Given the description of an element on the screen output the (x, y) to click on. 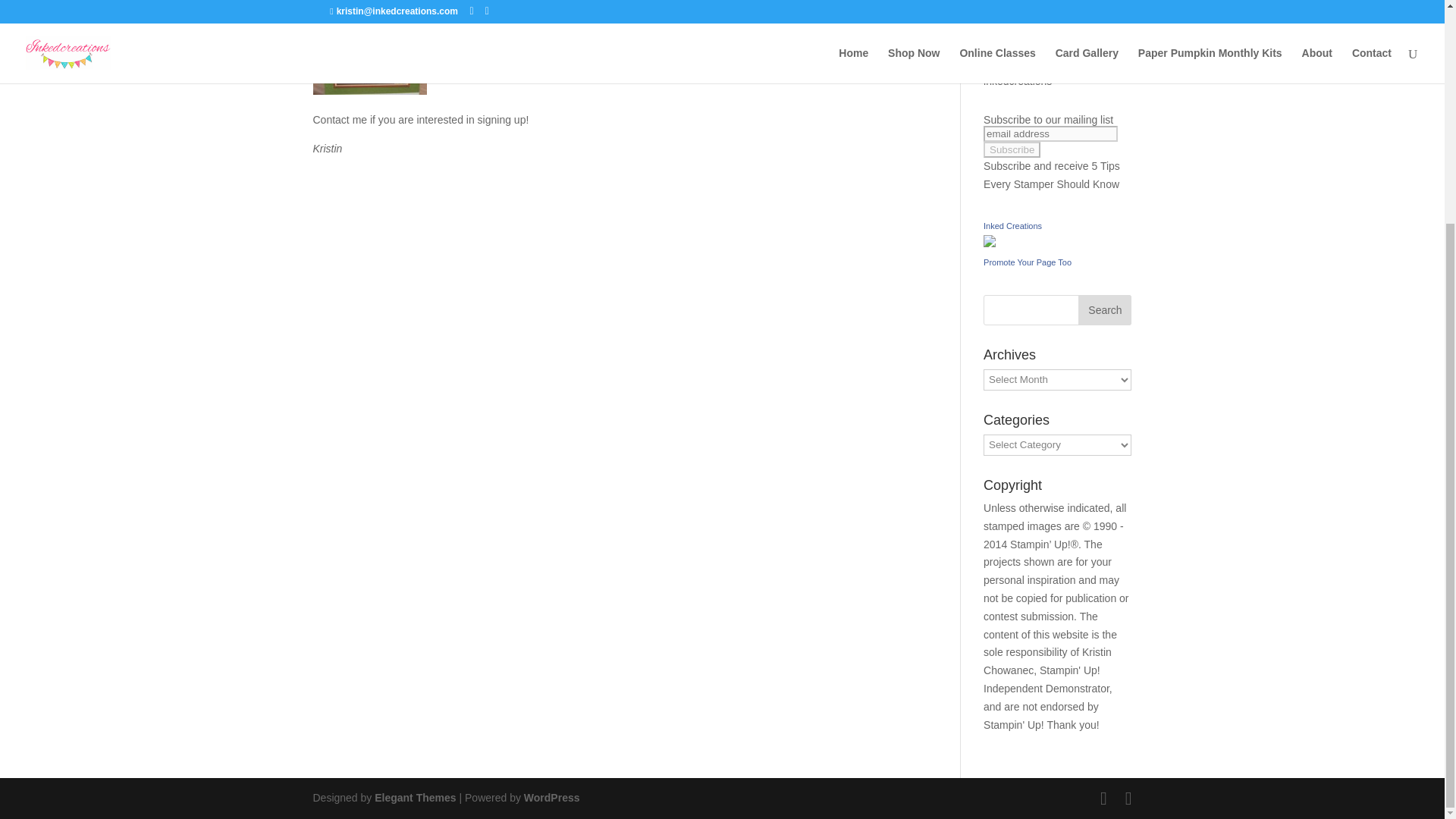
Search (1104, 309)
Search (1104, 309)
Subscribe (1012, 149)
Inked Creations (1013, 225)
Make your own badge! (1027, 261)
Inked Creations (989, 243)
Inked Creations (1013, 225)
Subscribe (1012, 149)
Premium WordPress Themes (414, 797)
WordPress (551, 797)
